Given the description of an element on the screen output the (x, y) to click on. 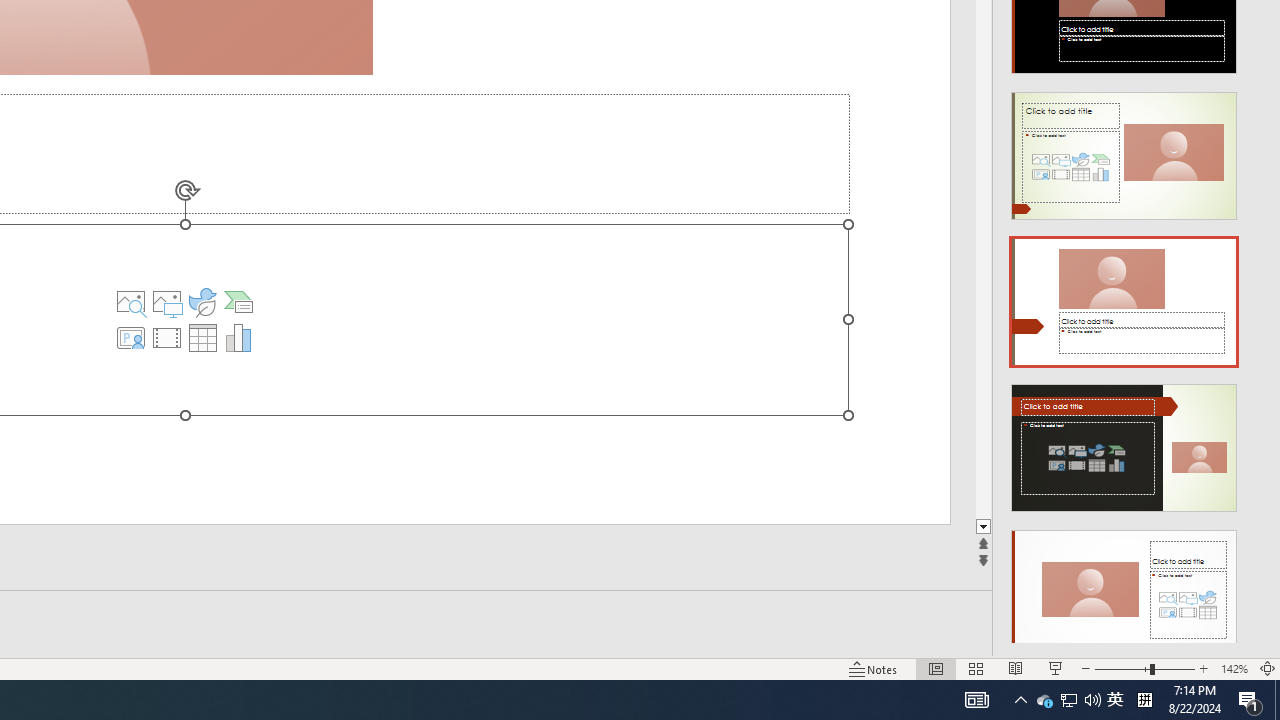
Q2790: 100% (1092, 699)
AutomationID: 4105 (976, 699)
Insert Cameo (131, 337)
User Promoted Notification Area (1068, 699)
Design Idea (1124, 587)
Stock Images (131, 301)
Insert Table (202, 337)
Zoom 142% (1234, 668)
Line down (1271, 527)
